Given the description of an element on the screen output the (x, y) to click on. 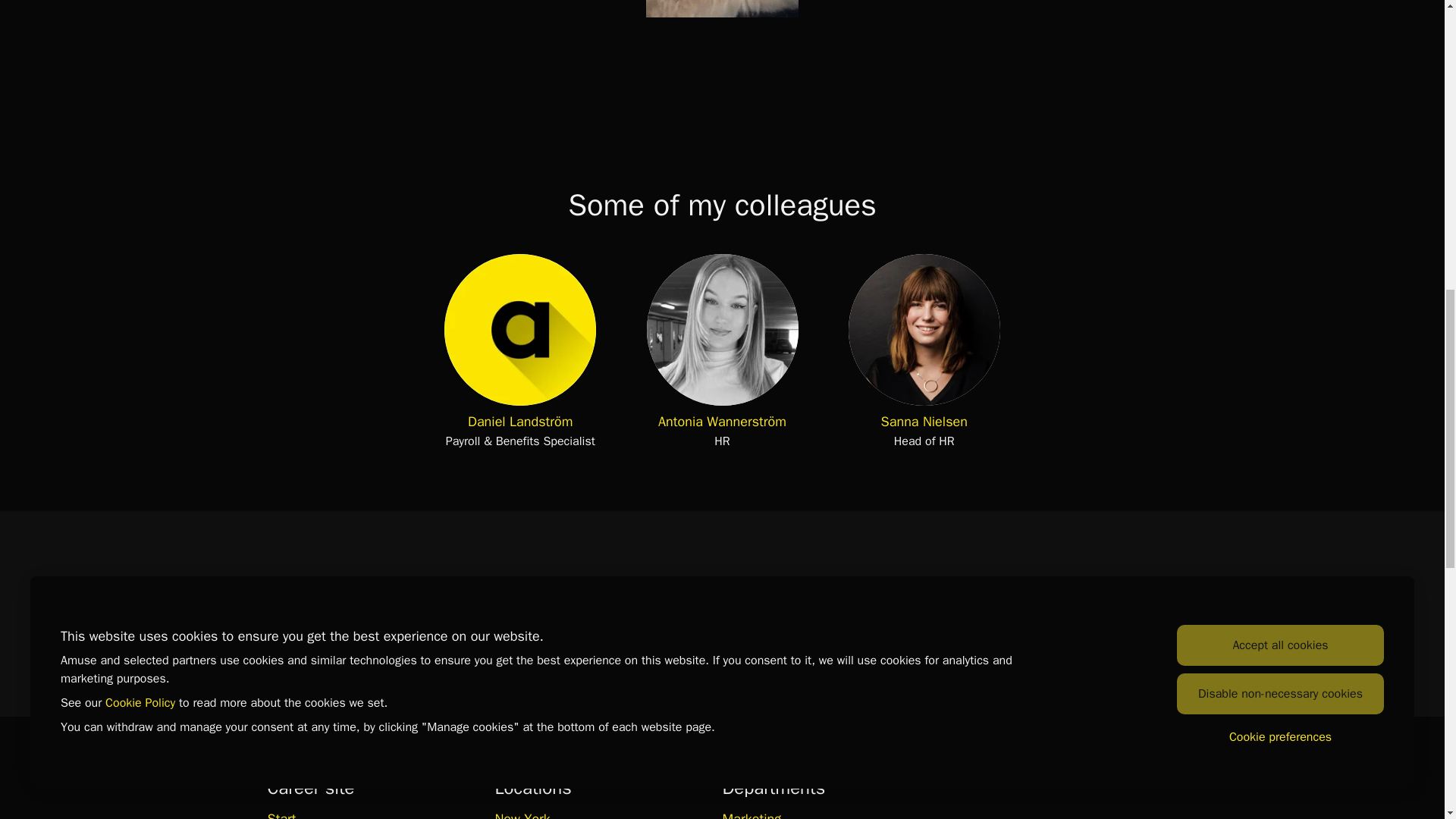
Start (280, 813)
New York (522, 813)
